Given the description of an element on the screen output the (x, y) to click on. 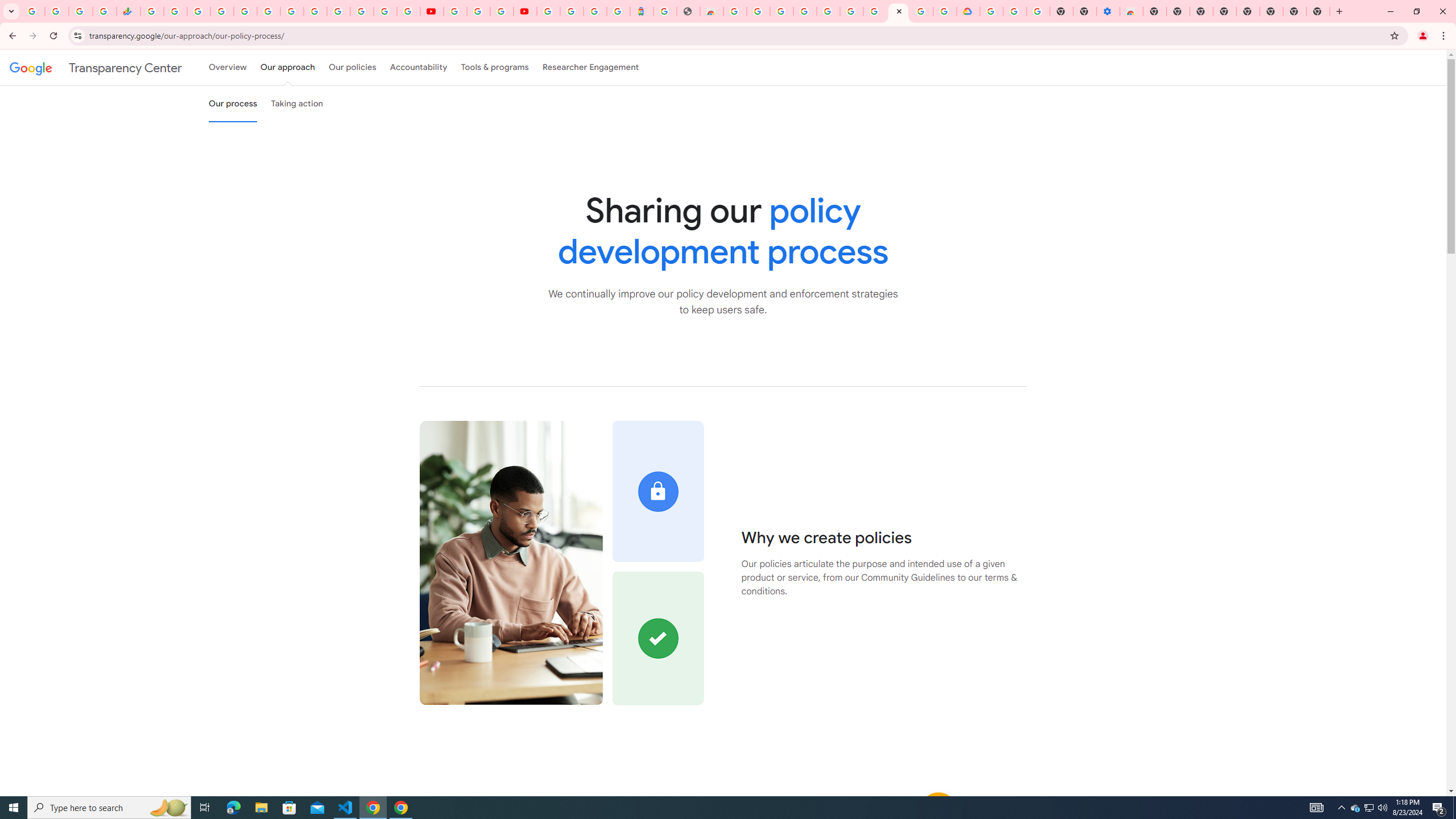
Atour Hotel - Google hotels (641, 11)
Our process (232, 103)
Ad Settings (804, 11)
Sign in - Google Accounts (338, 11)
Browse the Google Chrome Community - Google Chrome Community (945, 11)
Google Account Help (874, 11)
Tools & programs (494, 67)
Privacy Checkup (408, 11)
Researcher Engagement (590, 67)
Transparency Center (95, 67)
Sign in - Google Accounts (384, 11)
Content Creator Programs & Opportunities - YouTube Creators (524, 11)
